Given the description of an element on the screen output the (x, y) to click on. 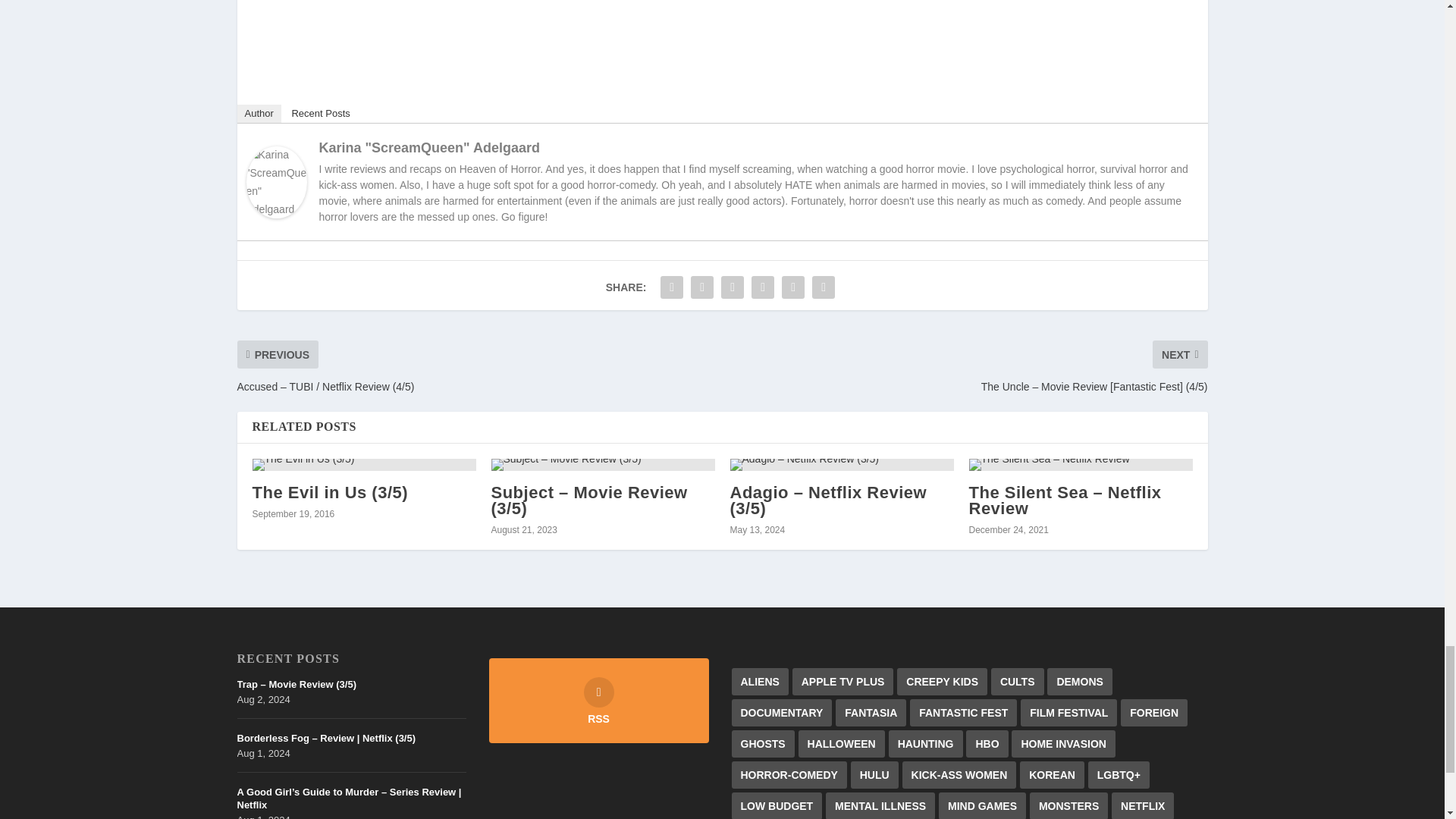
Recent Posts (319, 113)
Author (258, 113)
Karina "ScreamQueen" Adelgaard (275, 214)
